Given the description of an element on the screen output the (x, y) to click on. 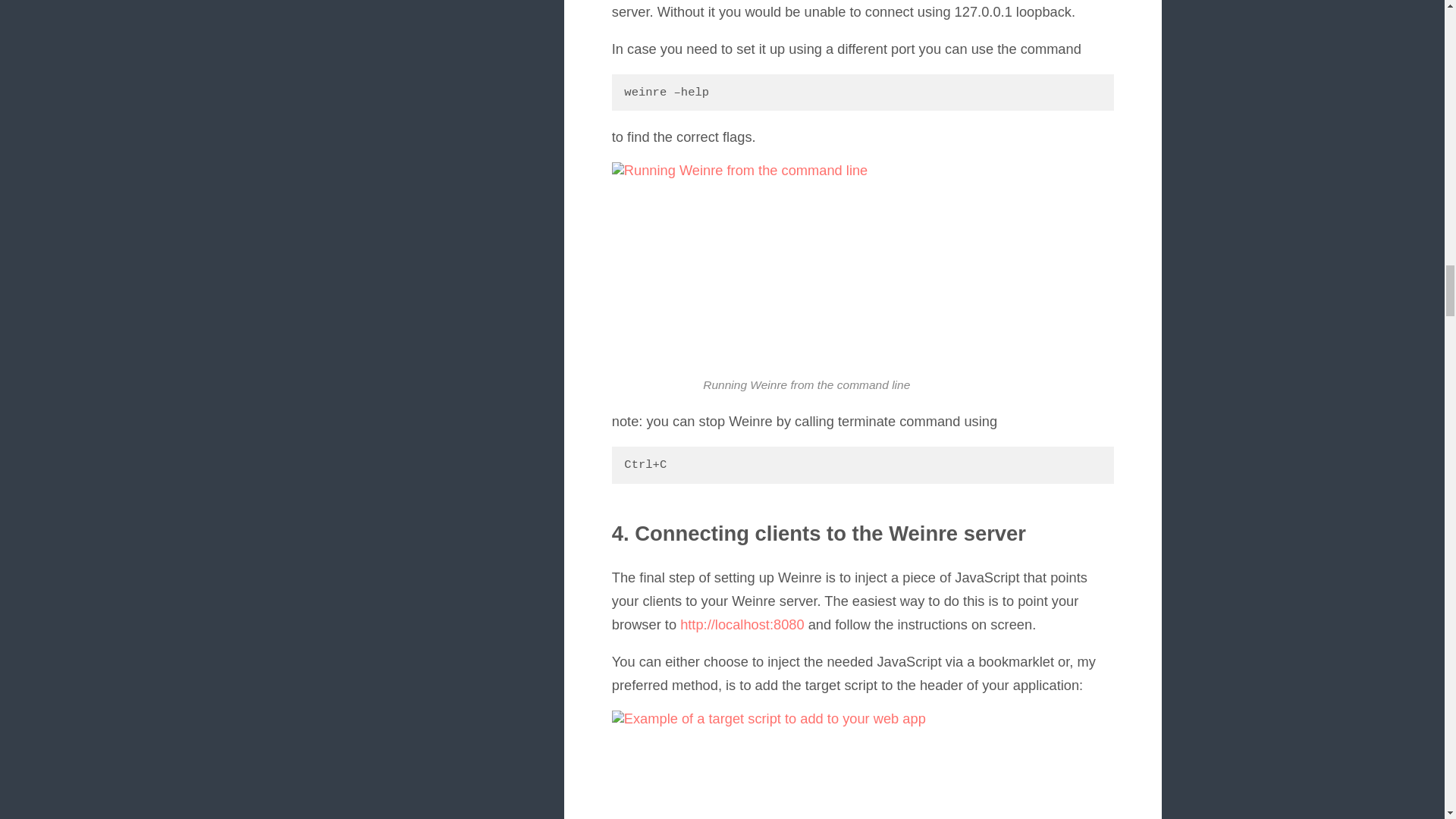
5 weinre welcome page (802, 764)
4 check (802, 259)
